Given the description of an element on the screen output the (x, y) to click on. 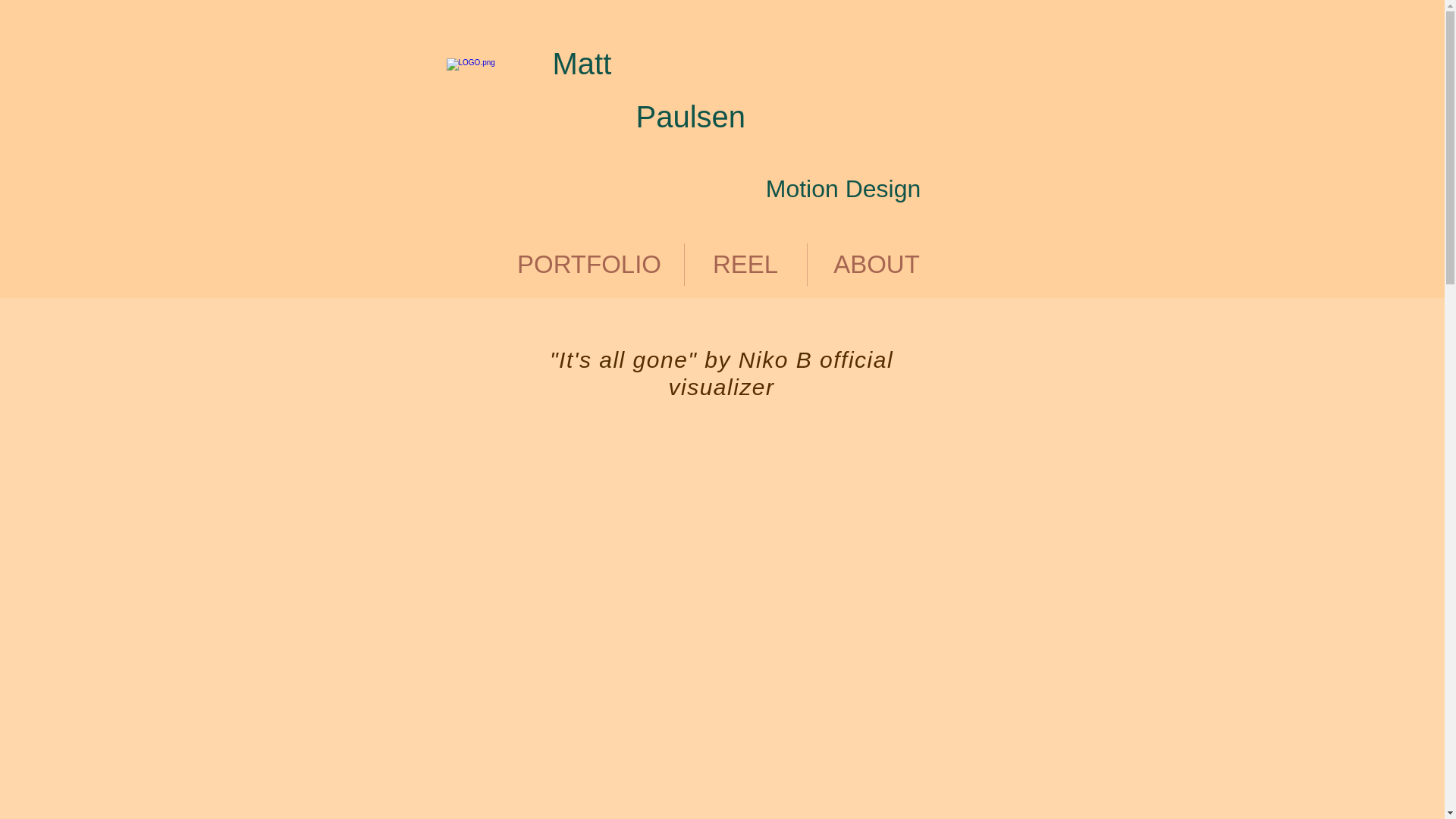
Motion Design (843, 188)
Matt (581, 63)
ABOUT (875, 264)
Paulsen (689, 116)
PORTFOLIO (588, 264)
REEL (745, 264)
